Given the description of an element on the screen output the (x, y) to click on. 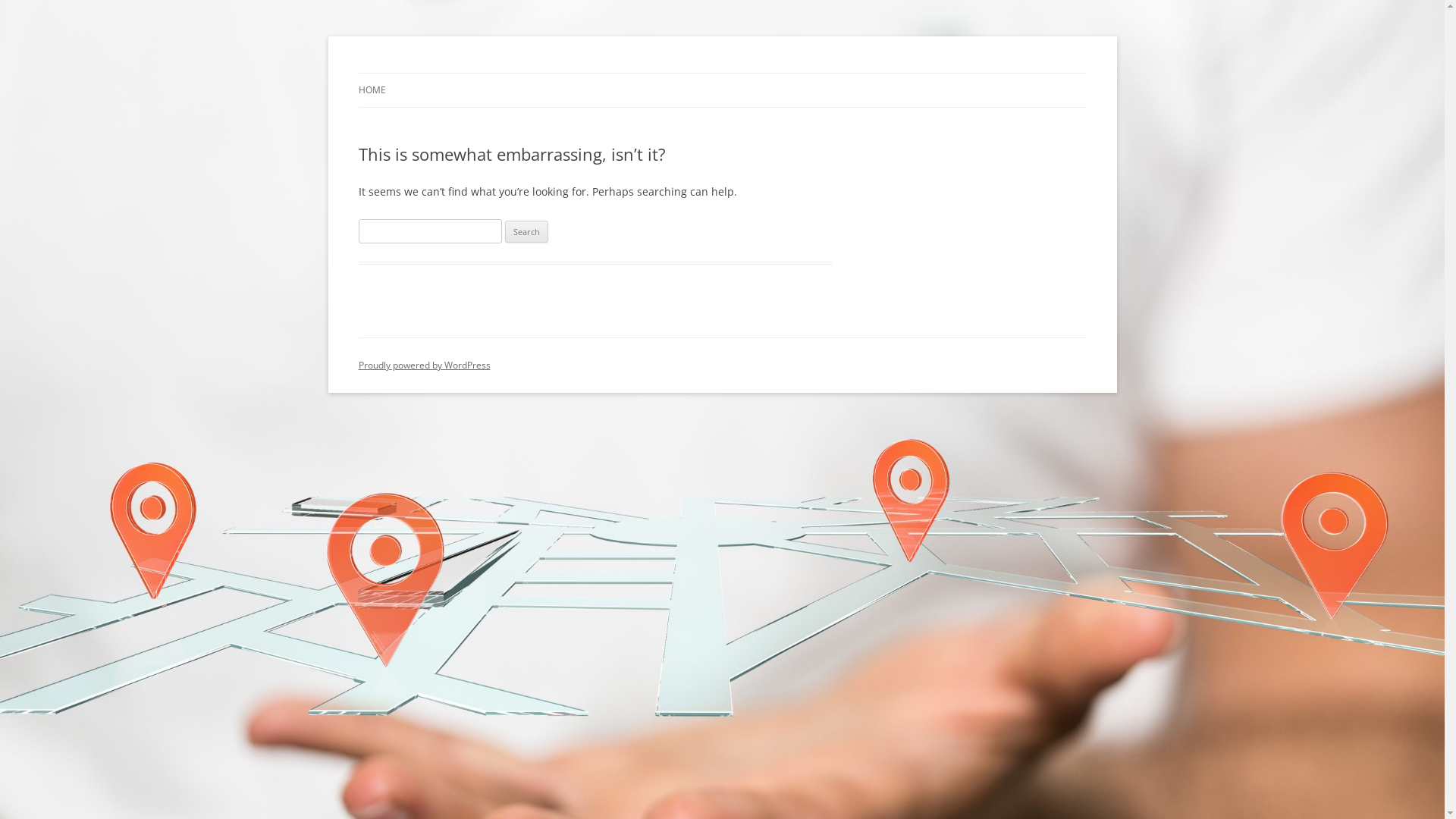
Online Business Reputation | Williamstown Element type: text (570, 72)
Search Element type: text (526, 231)
HOME Element type: text (371, 89)
Skip to content Element type: text (721, 72)
Proudly powered by WordPress Element type: text (423, 364)
